Given the description of an element on the screen output the (x, y) to click on. 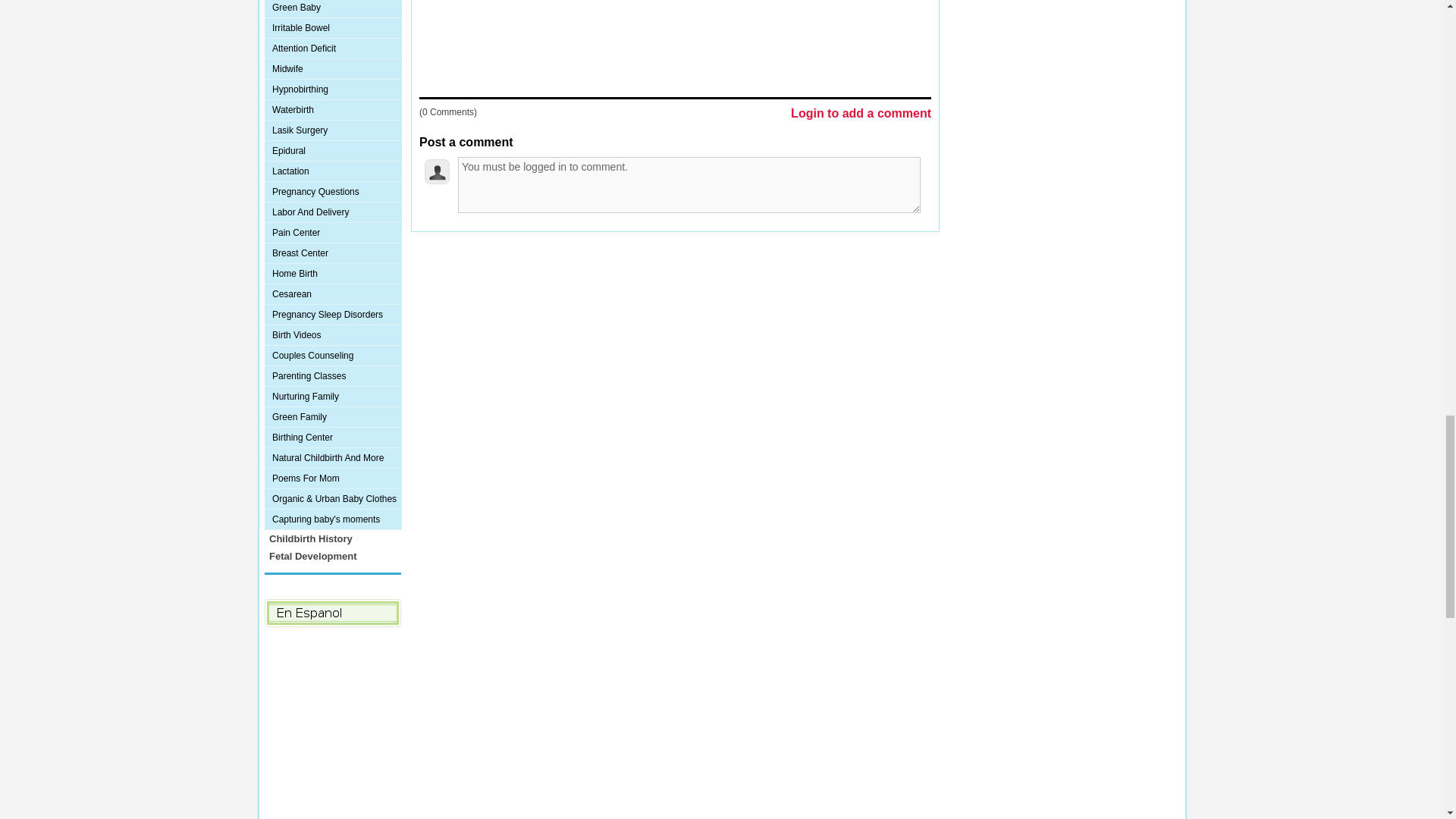
3rd party ad content (675, 42)
Login to add a comment (860, 113)
LOG IN (600, 262)
